Given the description of an element on the screen output the (x, y) to click on. 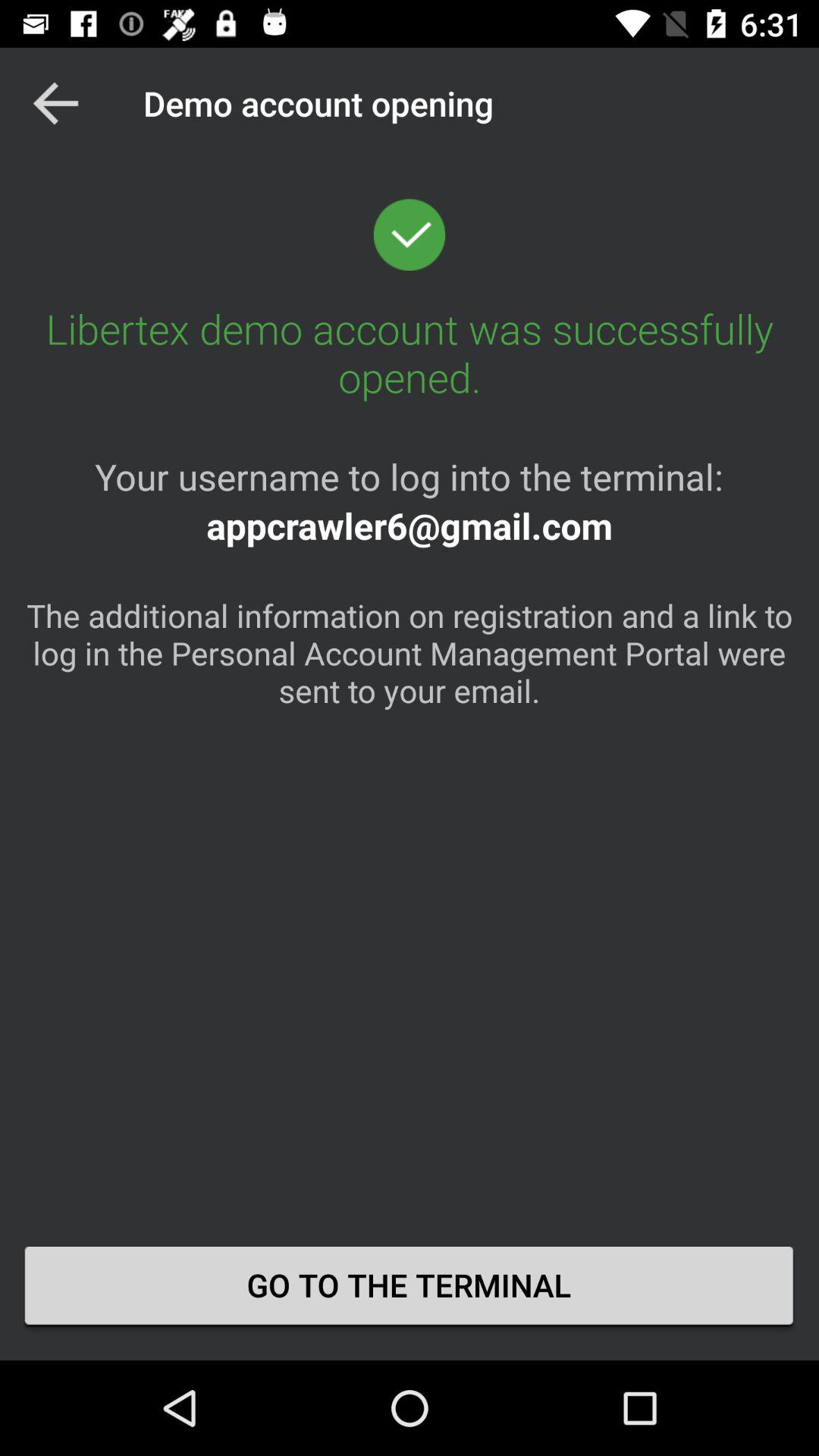
turn on app next to the demo account opening item (55, 103)
